Given the description of an element on the screen output the (x, y) to click on. 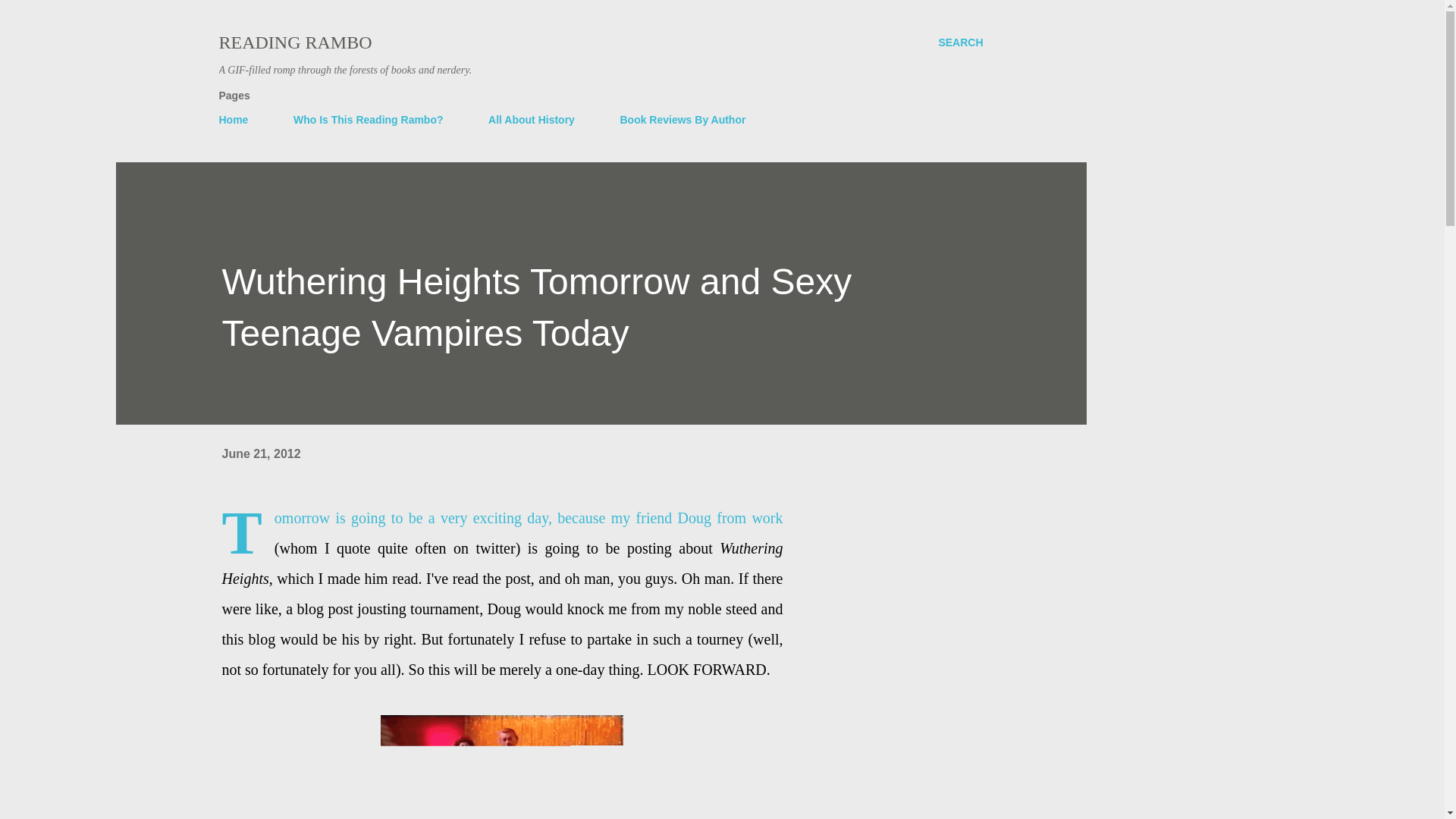
All About History (531, 119)
Who Is This Reading Rambo? (367, 119)
Book Reviews By Author (682, 119)
READING RAMBO (294, 42)
June 21, 2012 (260, 453)
permanent link (260, 453)
Home (237, 119)
SEARCH (959, 42)
